Given the description of an element on the screen output the (x, y) to click on. 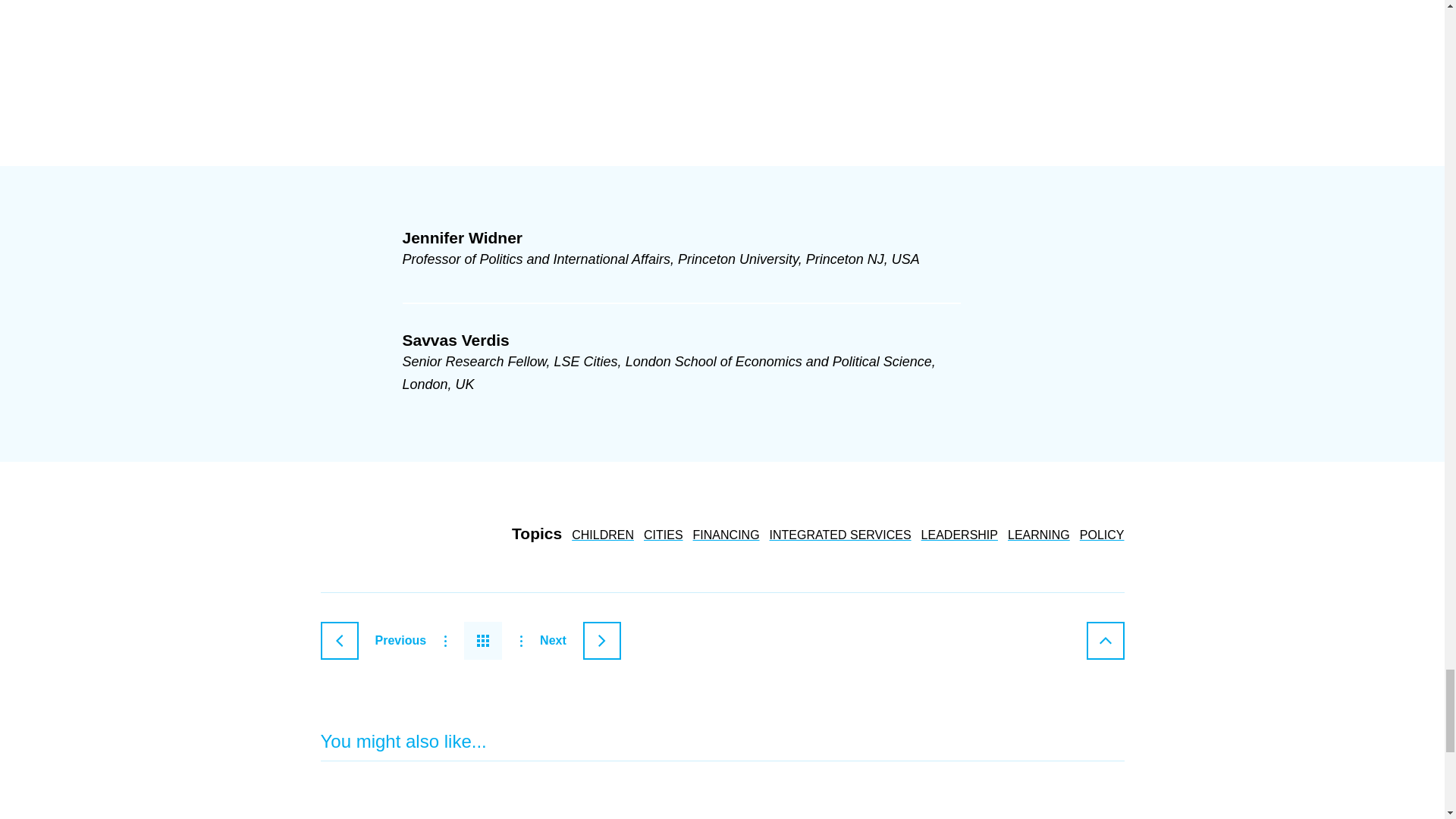
Next (580, 640)
POLICY (1102, 534)
LEADERSHIP (959, 534)
CHILDREN (602, 534)
FINANCING (726, 534)
CITIES (662, 534)
LEARNING (1038, 534)
INTEGRATED SERVICES (840, 534)
Previous (373, 640)
